Given the description of an element on the screen output the (x, y) to click on. 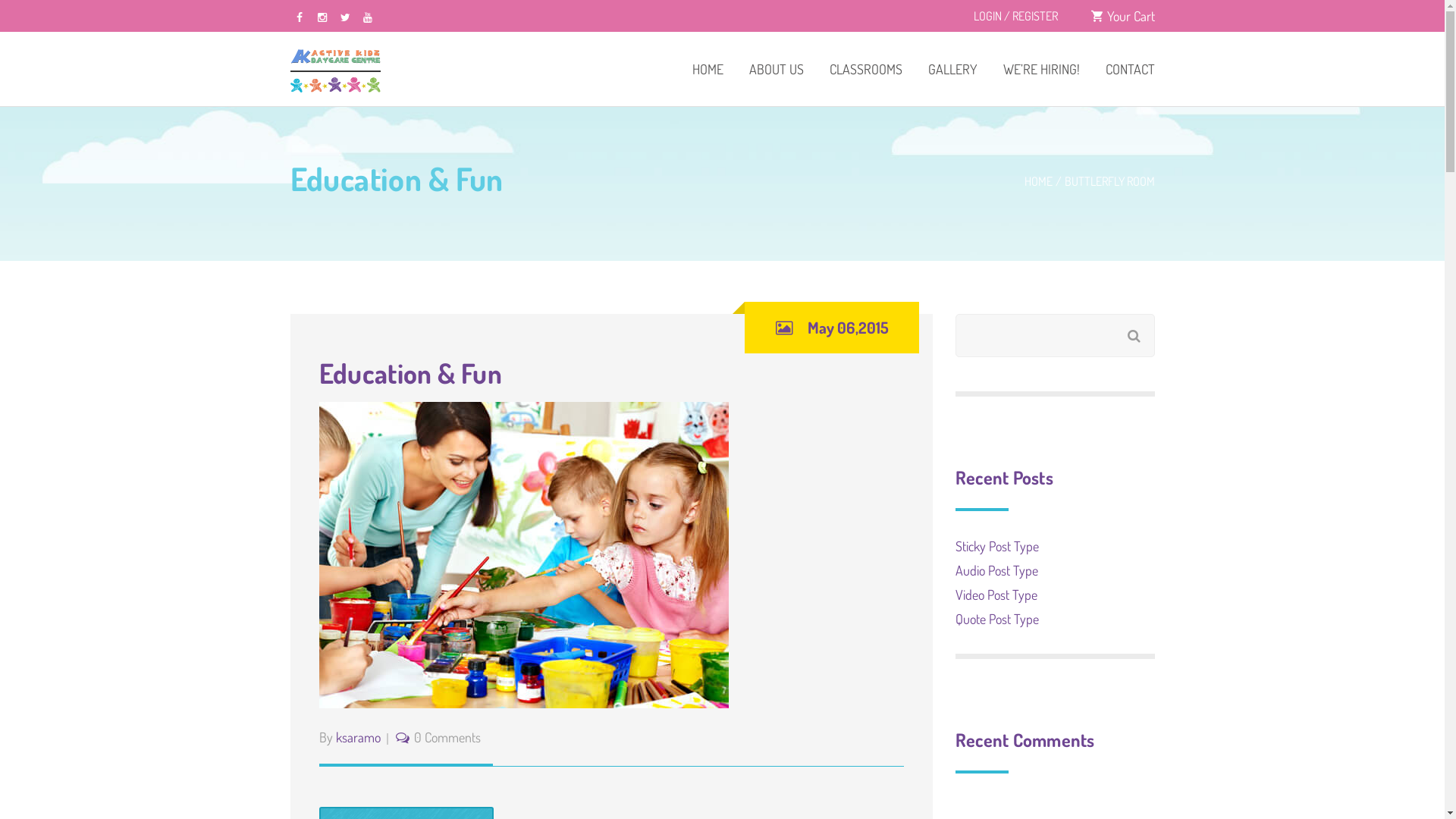
ksaramo Element type: text (357, 736)
Education & Fun Element type: text (409, 372)
Audio Post Type Element type: text (996, 569)
Search Element type: text (1141, 326)
Quote Post Type Element type: text (996, 618)
HOME Element type: text (707, 68)
CLASSROOMS Element type: text (865, 68)
Video Post Type Element type: text (996, 594)
Sticky Post Type Element type: text (996, 545)
CONTACT Element type: text (1123, 68)
BUTTLERFLY ROOM Element type: text (1109, 180)
ABOUT US Element type: text (775, 68)
HOME Element type: text (1037, 180)
GALLERY Element type: text (952, 68)
0 Comments Element type: text (447, 736)
